Given the description of an element on the screen output the (x, y) to click on. 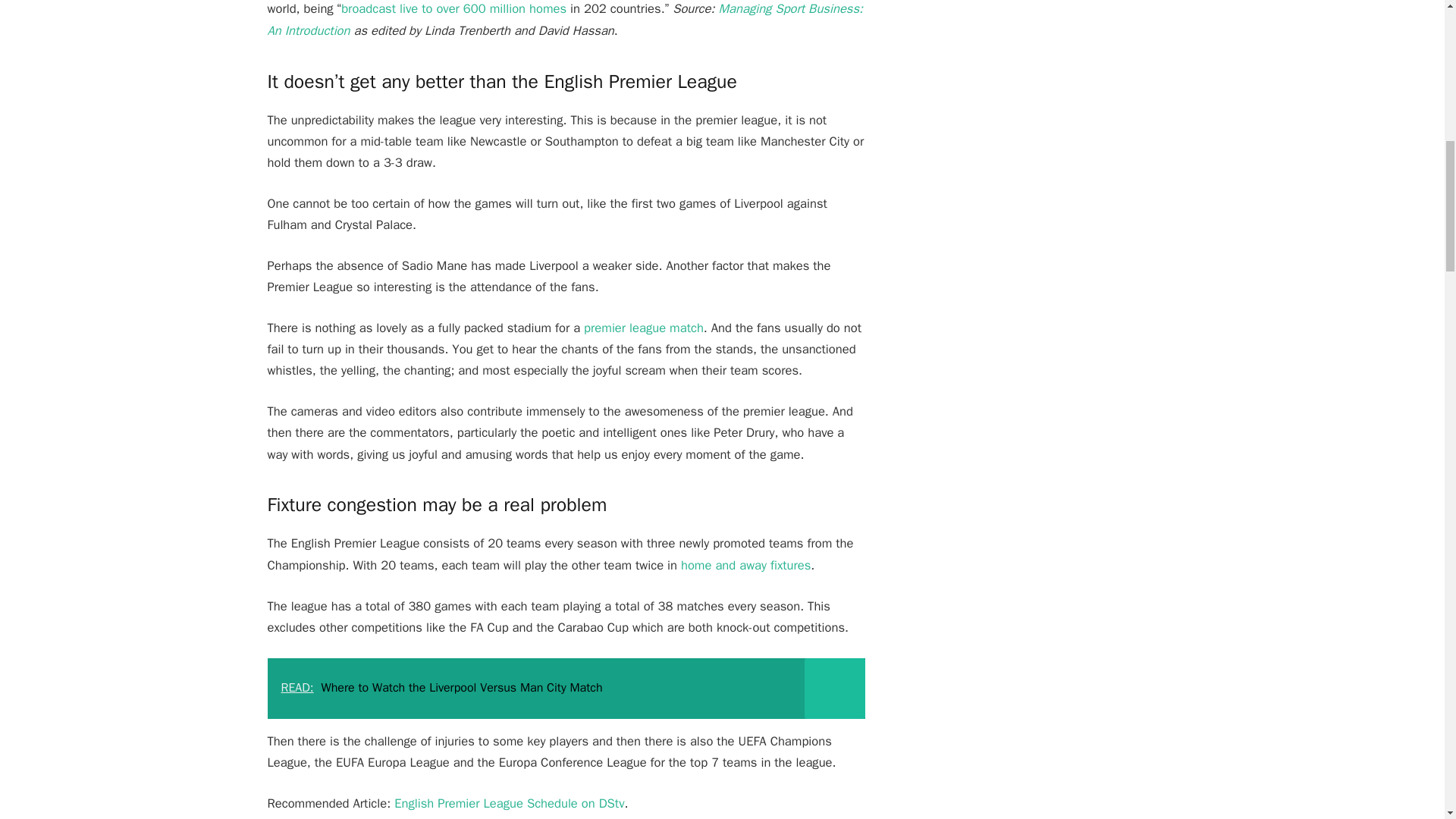
broadcast live to over 600 million homes (453, 8)
home and away fixtures (745, 565)
premier league match (643, 327)
Managing Sport Business: An Introduction (564, 18)
